Given the description of an element on the screen output the (x, y) to click on. 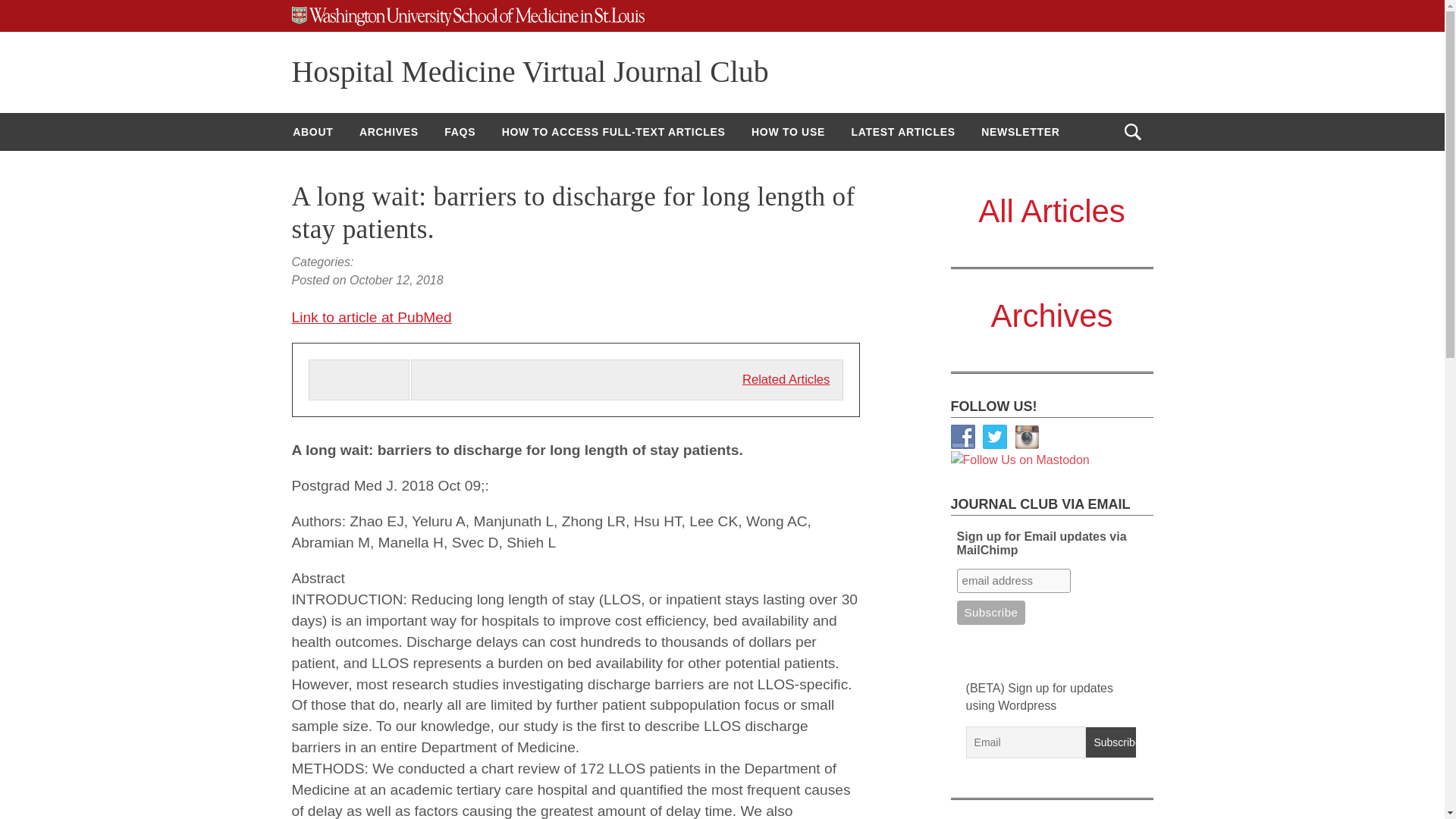
Archives (1051, 315)
LATEST ARTICLES (903, 131)
ARCHIVES (388, 131)
HOW TO ACCESS FULL-TEXT ARTICLES (613, 131)
Follow Us on Instagram (1026, 436)
FAQS (459, 131)
ABOUT (312, 131)
All Articles (1051, 211)
HOW TO USE (787, 131)
Subscribe (1110, 742)
Follow Us on Twitter (994, 436)
Follow Us on Facebook (962, 436)
Related Articles (785, 379)
NEWSLETTER (1019, 131)
